Given the description of an element on the screen output the (x, y) to click on. 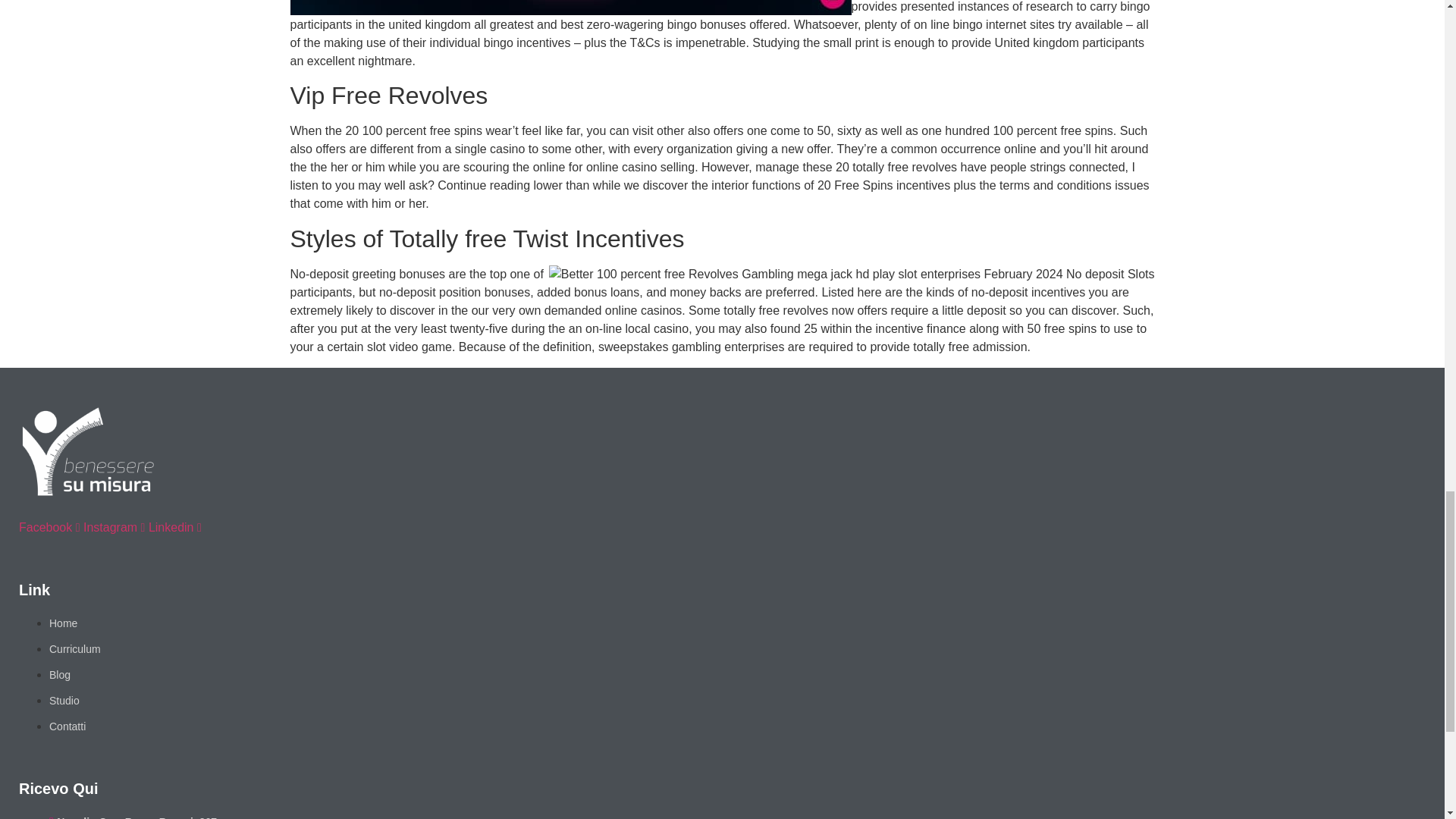
Facebook (50, 526)
Contatti (67, 726)
Home (63, 623)
Blog (59, 674)
Instagram (115, 526)
Studio (64, 700)
Linkedin (175, 526)
Curriculum (74, 648)
